Given the description of an element on the screen output the (x, y) to click on. 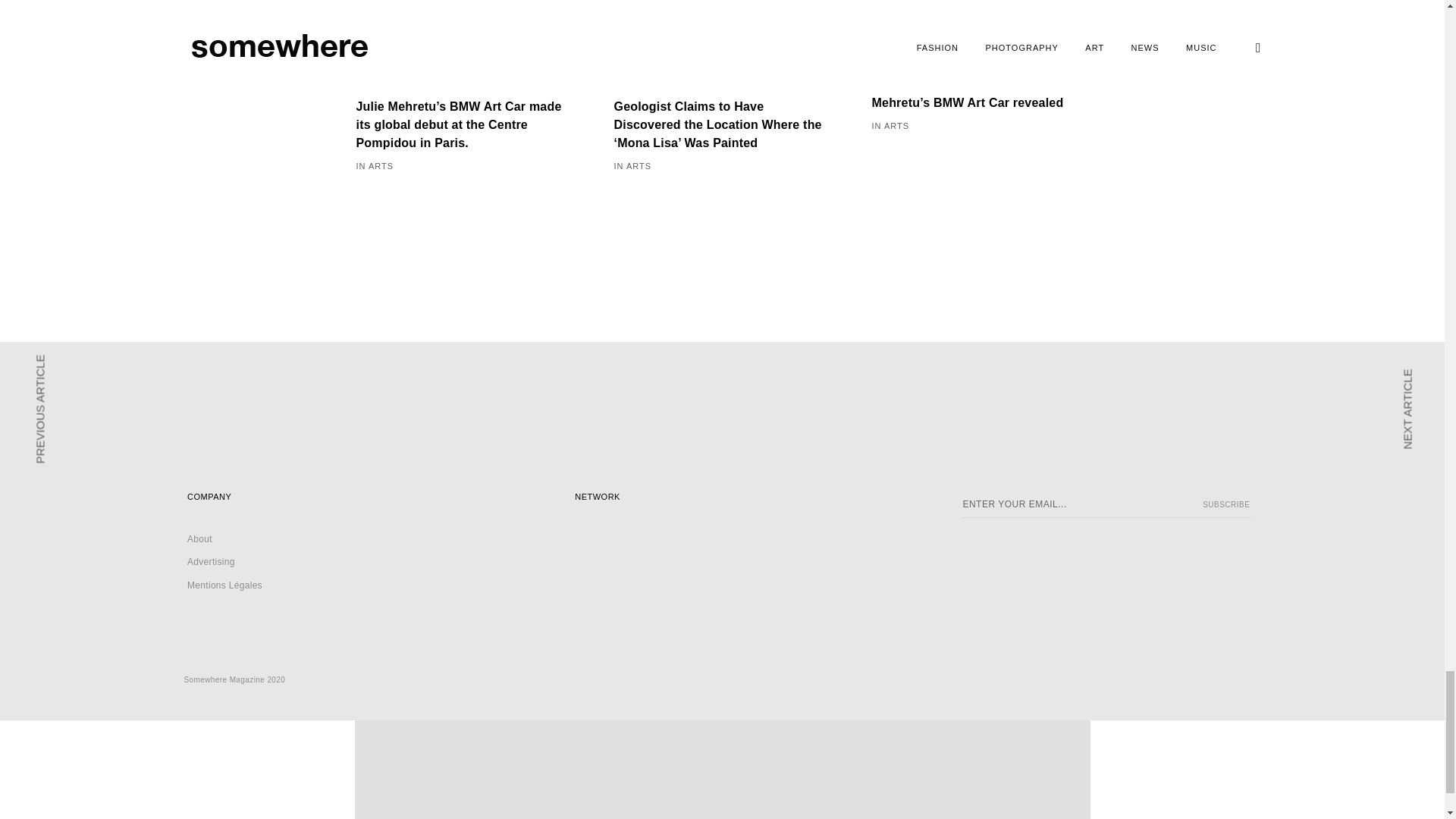
SUBSCRIBE (1222, 504)
About (199, 538)
SUBSCRIBE (1222, 504)
ENTER YOUR EMAIL... (1106, 504)
Advertising (210, 561)
